Given the description of an element on the screen output the (x, y) to click on. 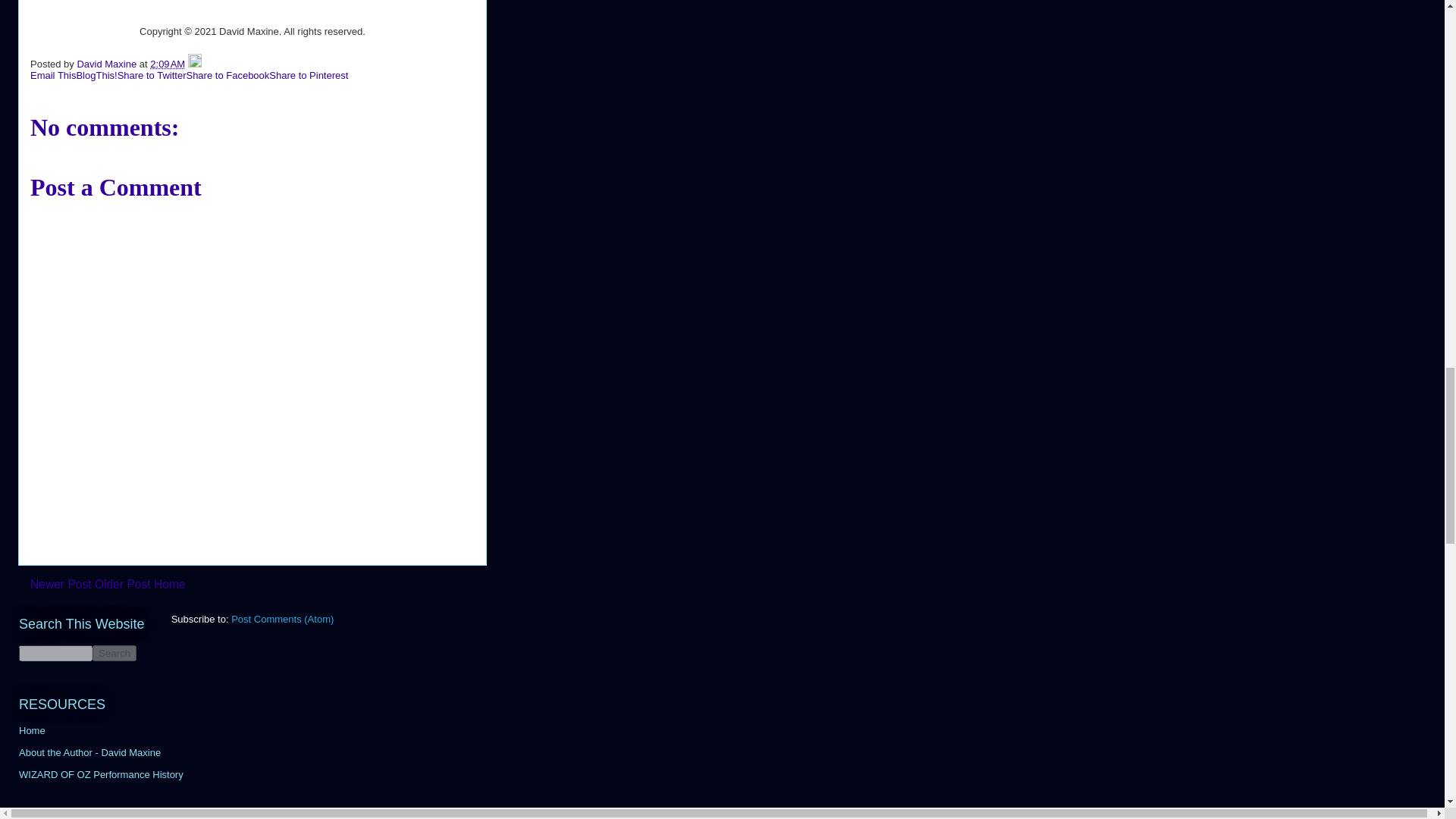
David Maxine (107, 63)
Share to Twitter (151, 75)
BlogThis! (95, 75)
Newer Post (60, 584)
search (114, 652)
Home (170, 584)
About the Author - David Maxine (89, 752)
Search (114, 652)
Search (114, 652)
Share to Facebook (227, 75)
Share to Facebook (227, 75)
Edit Post (194, 63)
Newer Post (60, 584)
Home (31, 730)
